Given the description of an element on the screen output the (x, y) to click on. 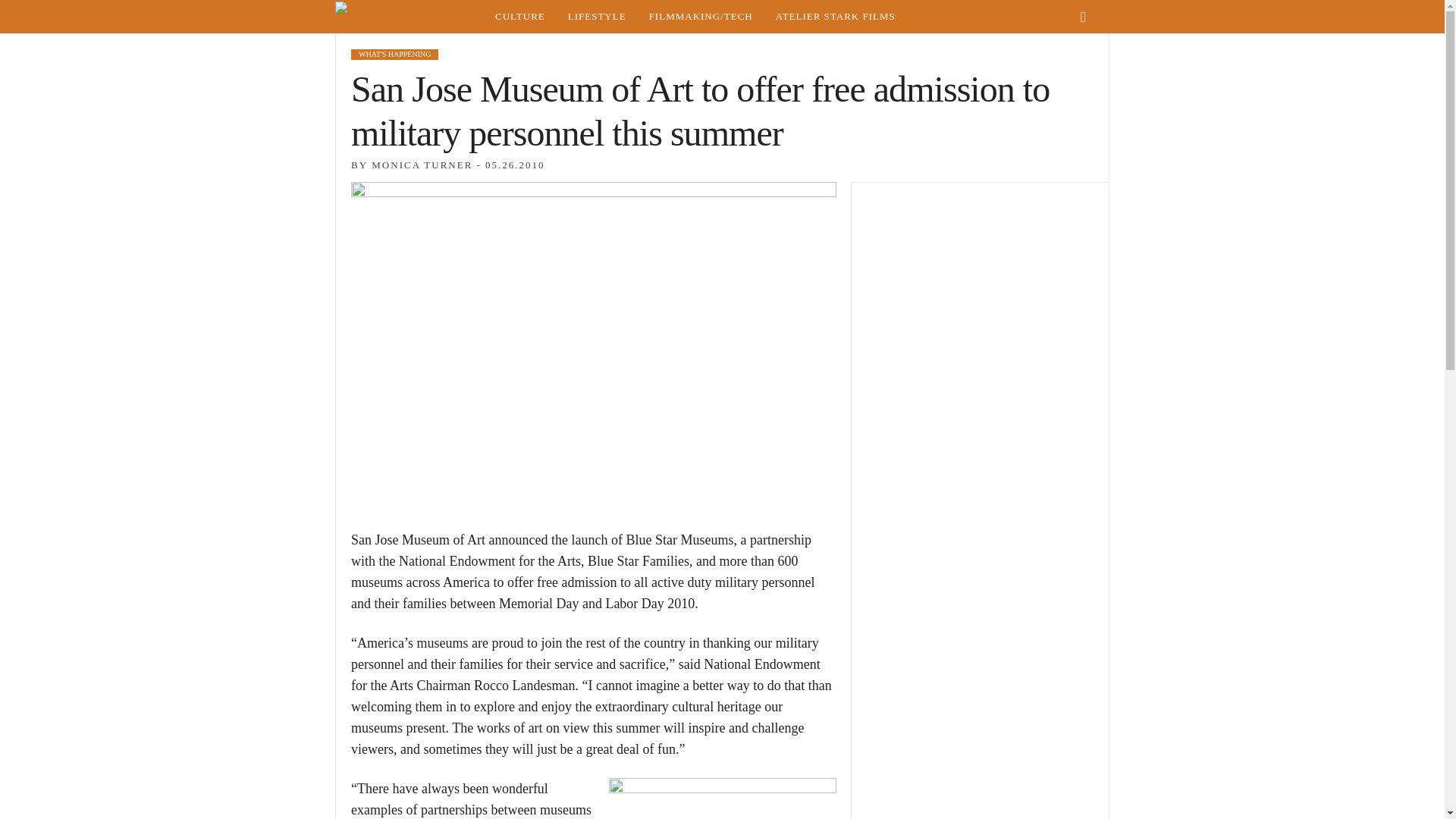
Indie film, music, arts in San Francisco and Silicon Valley (519, 16)
WHAT'S HAPPENING (394, 54)
SJMA (721, 798)
Stark Insider (408, 16)
Tech, gadgets, camera news and reviews from Silicon Valley (700, 16)
ATELIER STARK FILMS (835, 16)
MONICA TURNER (421, 164)
LIFESTYLE (596, 16)
CULTURE (519, 16)
